Given the description of an element on the screen output the (x, y) to click on. 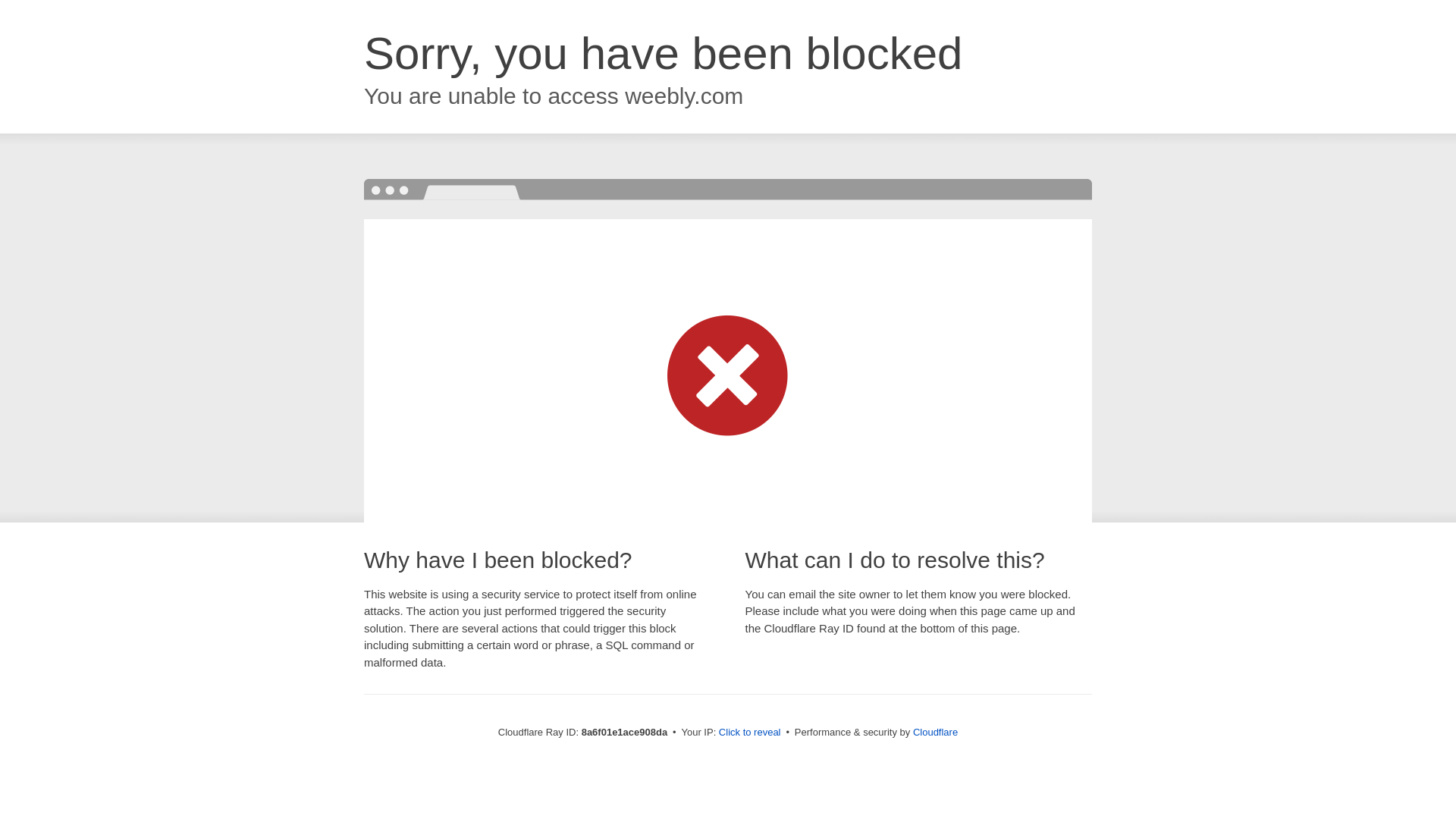
Cloudflare (935, 731)
Click to reveal (749, 732)
